Given the description of an element on the screen output the (x, y) to click on. 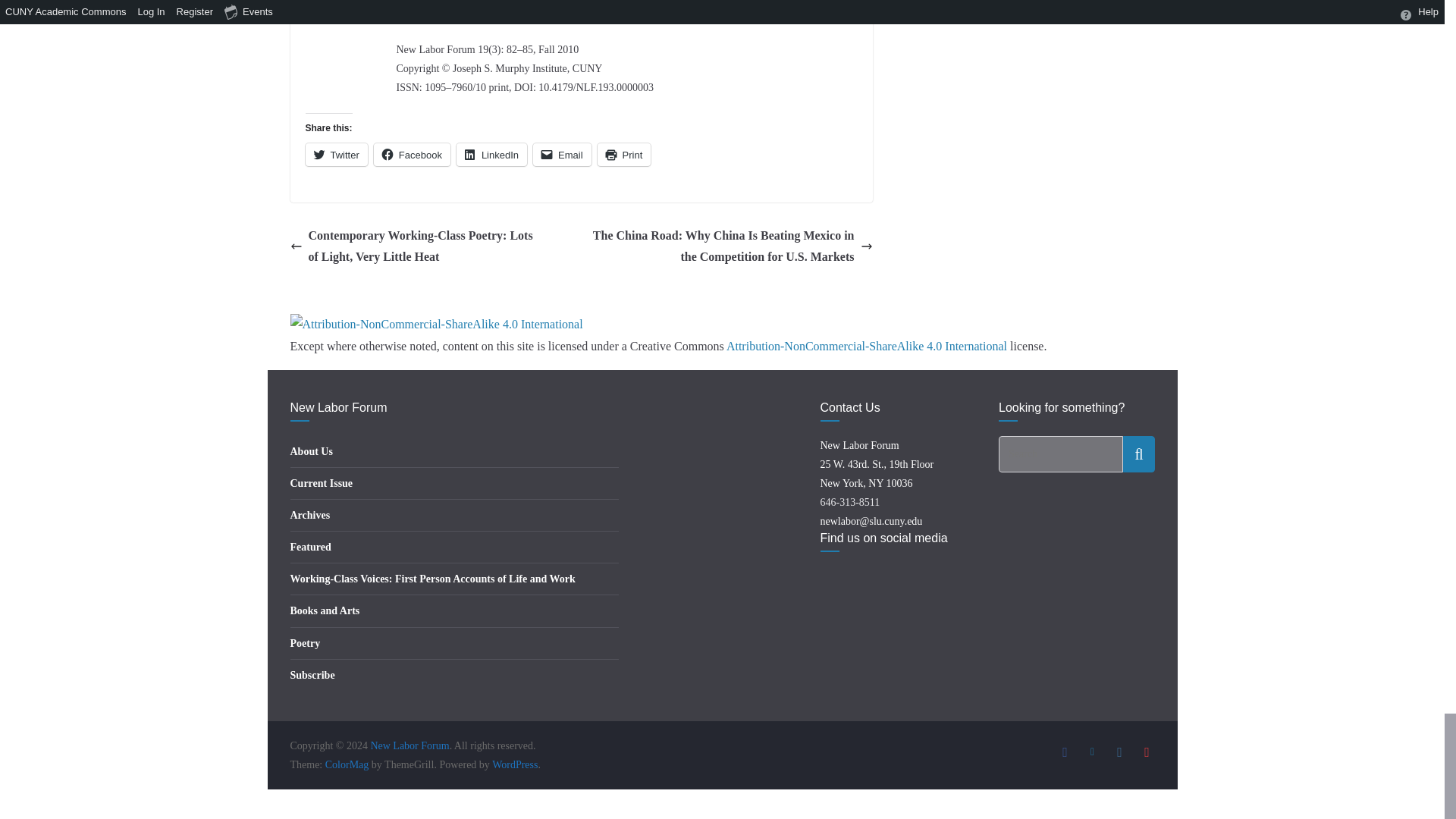
Click to share on LinkedIn (492, 154)
Click to share on Facebook (411, 154)
Twitter (335, 154)
Click to print (623, 154)
Click to share on Twitter (335, 154)
Click to email a link to a friend (561, 154)
